Given the description of an element on the screen output the (x, y) to click on. 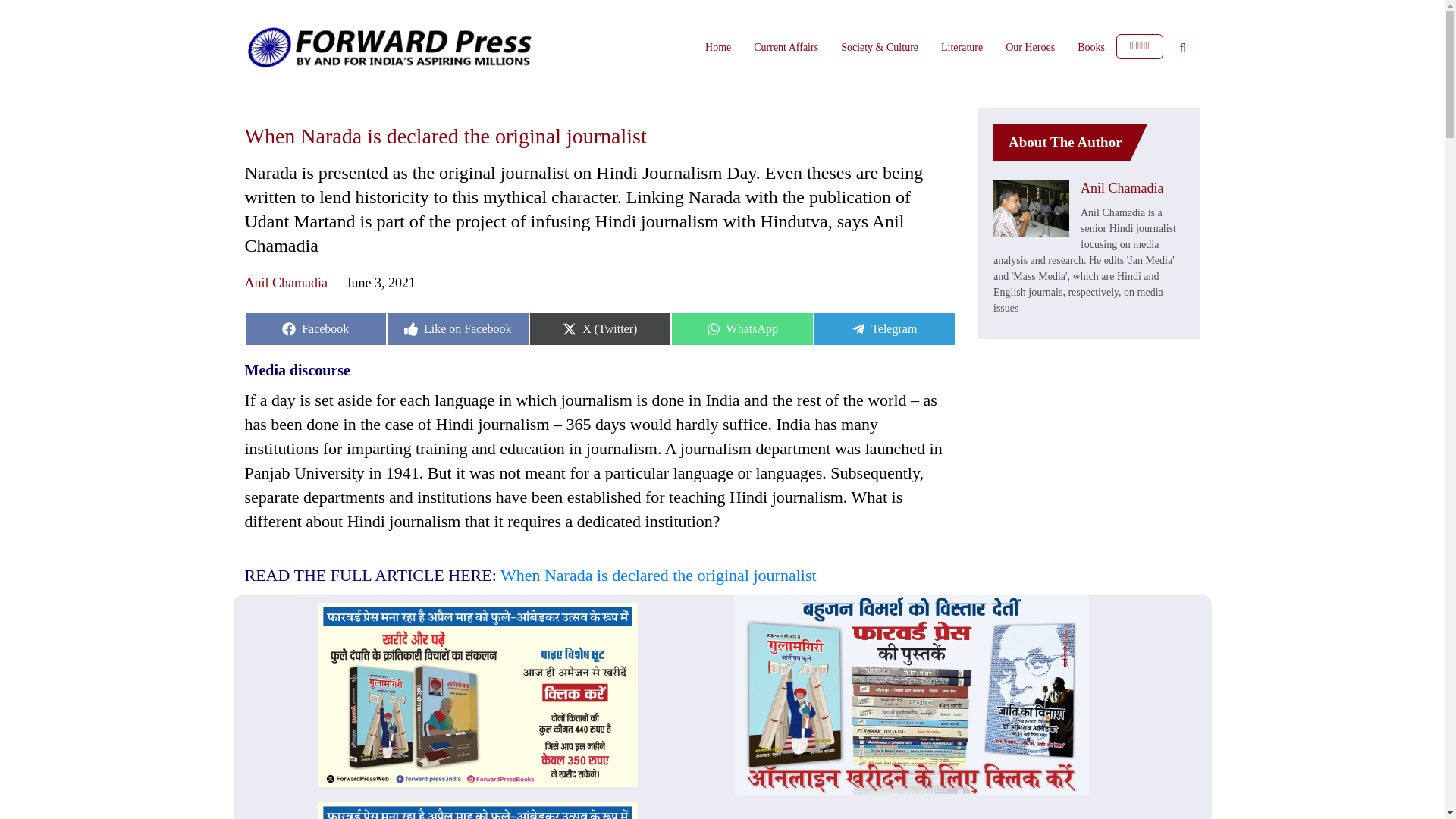
When Narada is declared the original journalist (742, 328)
Anil Chamadia (658, 574)
Home (285, 282)
Our Heroes (717, 47)
Books (1029, 47)
Current Affairs (883, 328)
